Given the description of an element on the screen output the (x, y) to click on. 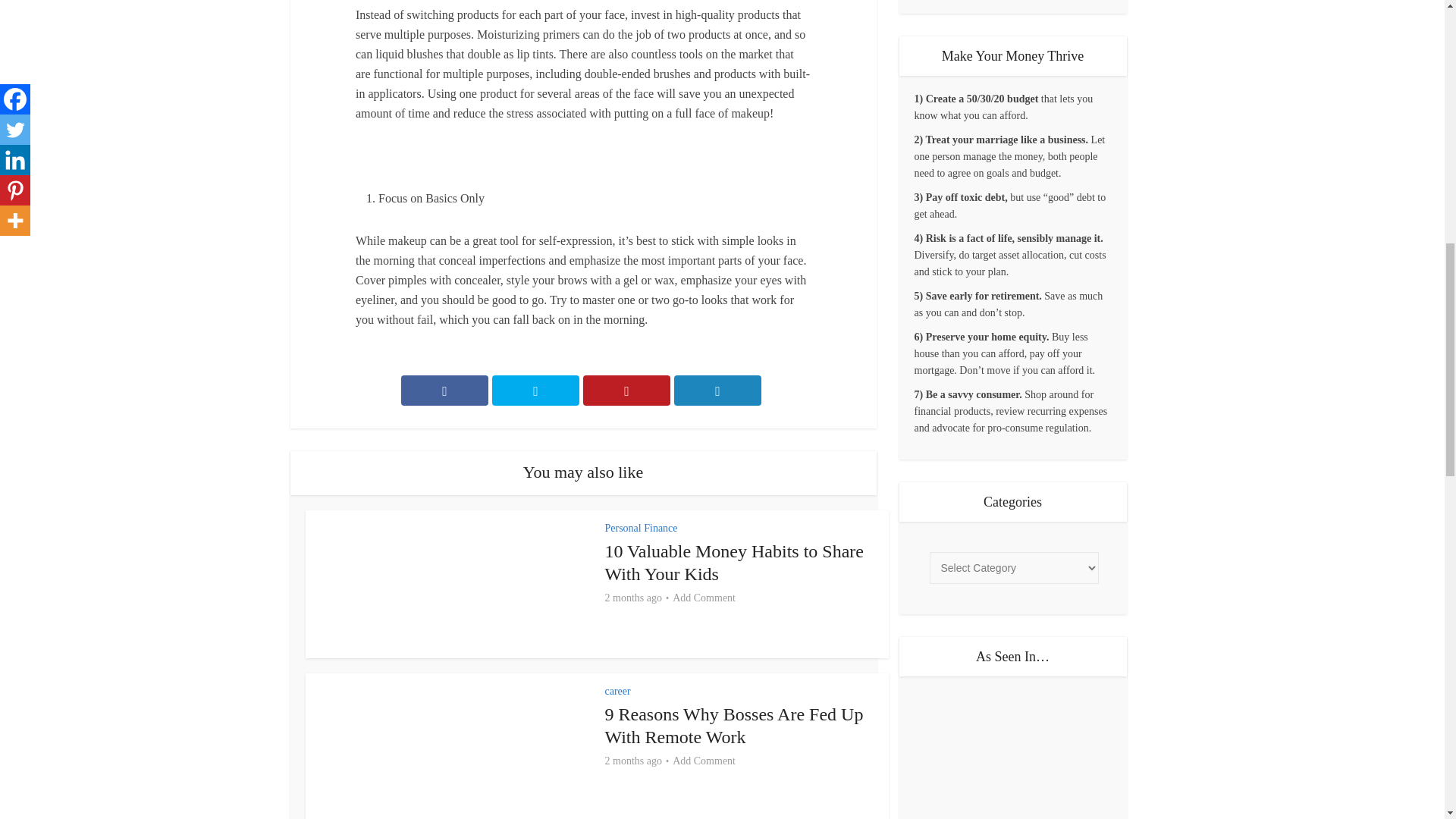
9 Reasons Why Bosses Are Fed Up With Remote Work (734, 725)
10 Valuable Money Habits to Share With Your Kids (734, 562)
Personal Finance (641, 527)
10 Valuable Money Habits to Share With Your Kids (734, 562)
Add Comment (703, 598)
Add Comment (703, 761)
career (617, 690)
